Given the description of an element on the screen output the (x, y) to click on. 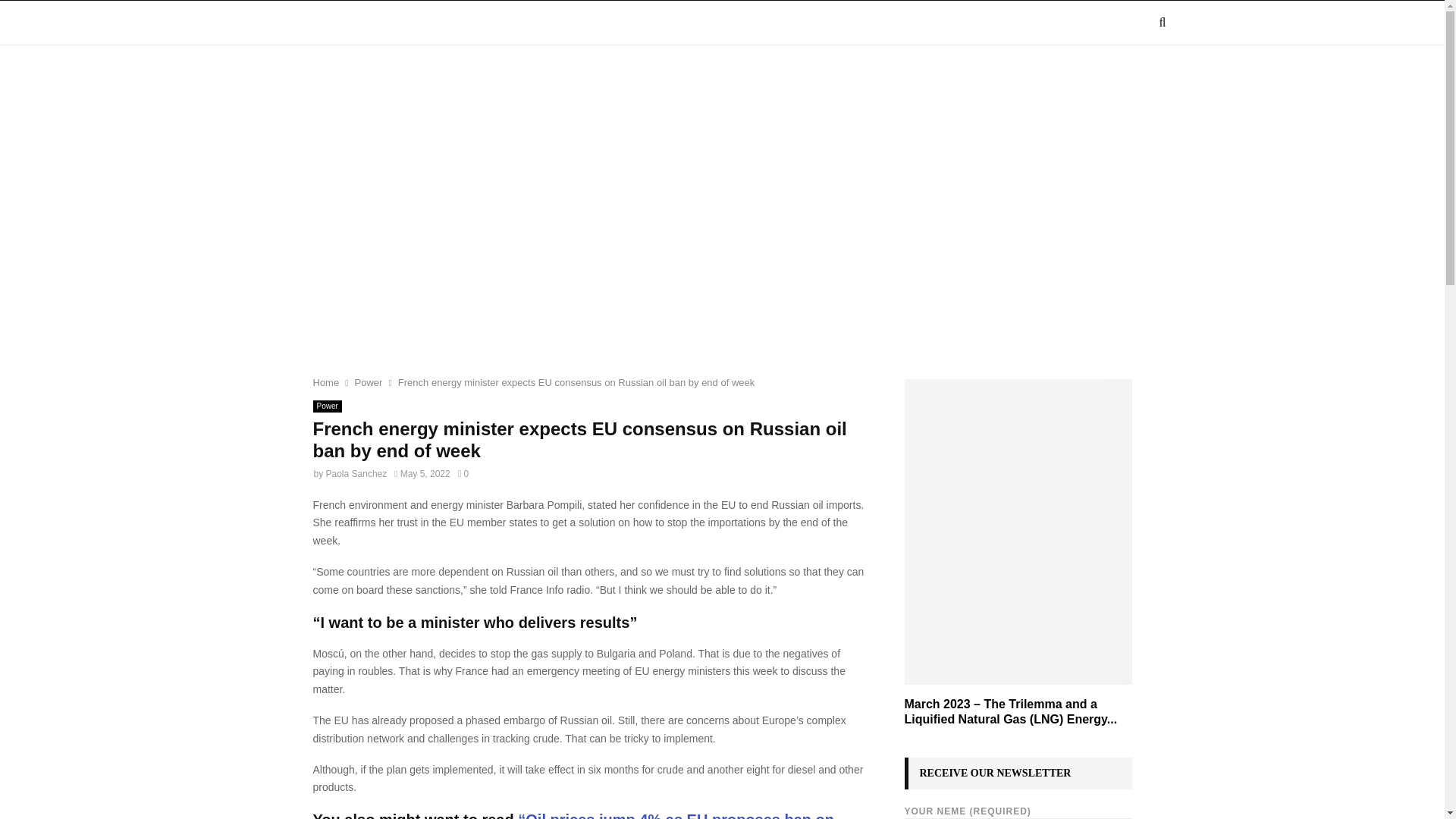
SECTORS (474, 22)
HOME (308, 22)
MAGAZINE (383, 22)
